Given the description of an element on the screen output the (x, y) to click on. 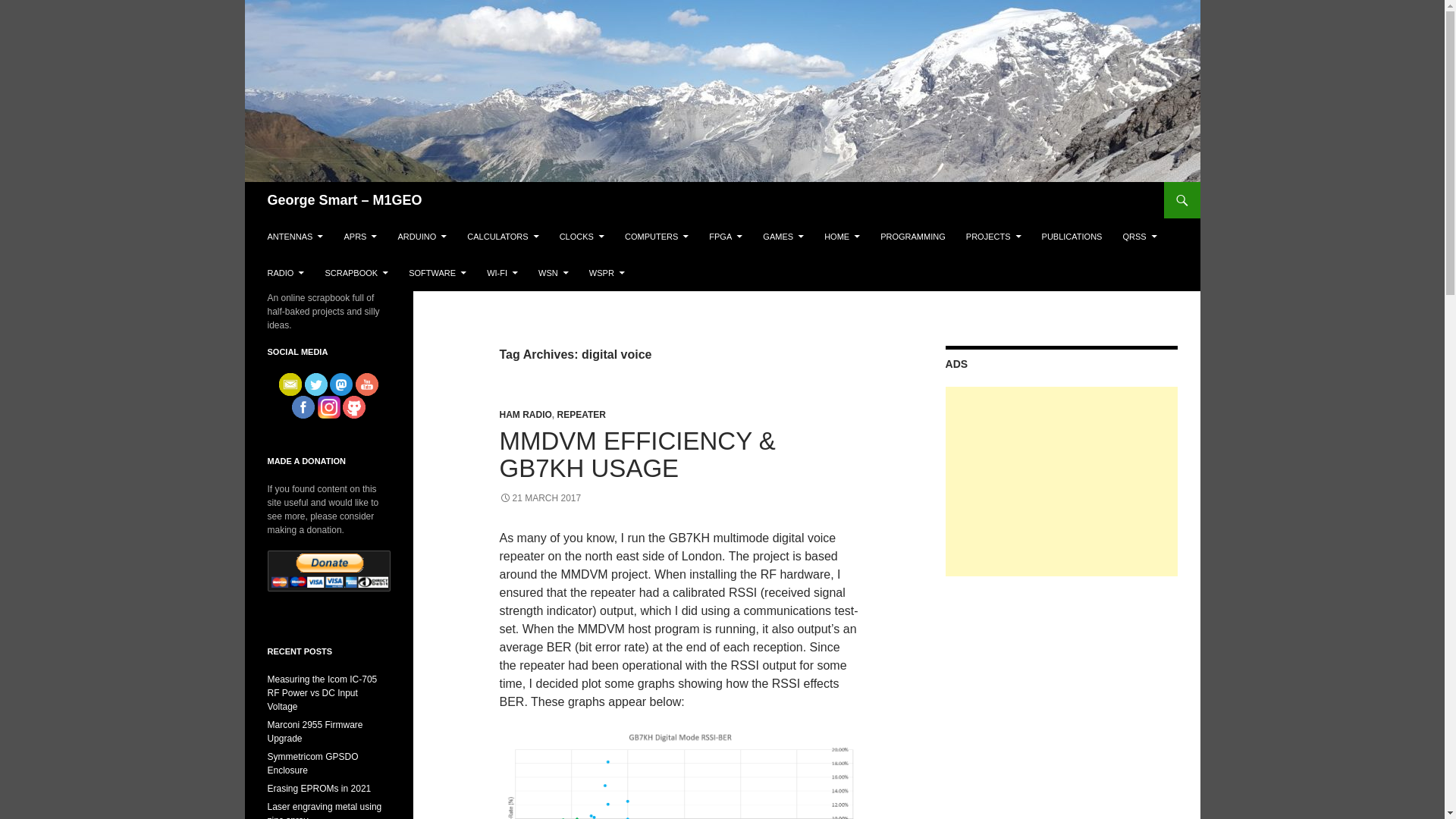
Subscribe to my YouTube Channel (366, 384)
CLOCKS (581, 236)
Follow me on Twitter (315, 384)
Follow me on Instagram (328, 406)
ANTENNAS (294, 236)
APRS (359, 236)
CALCULATORS (502, 236)
ARDUINO (421, 236)
Follow me on GitHub (353, 406)
